Given the description of an element on the screen output the (x, y) to click on. 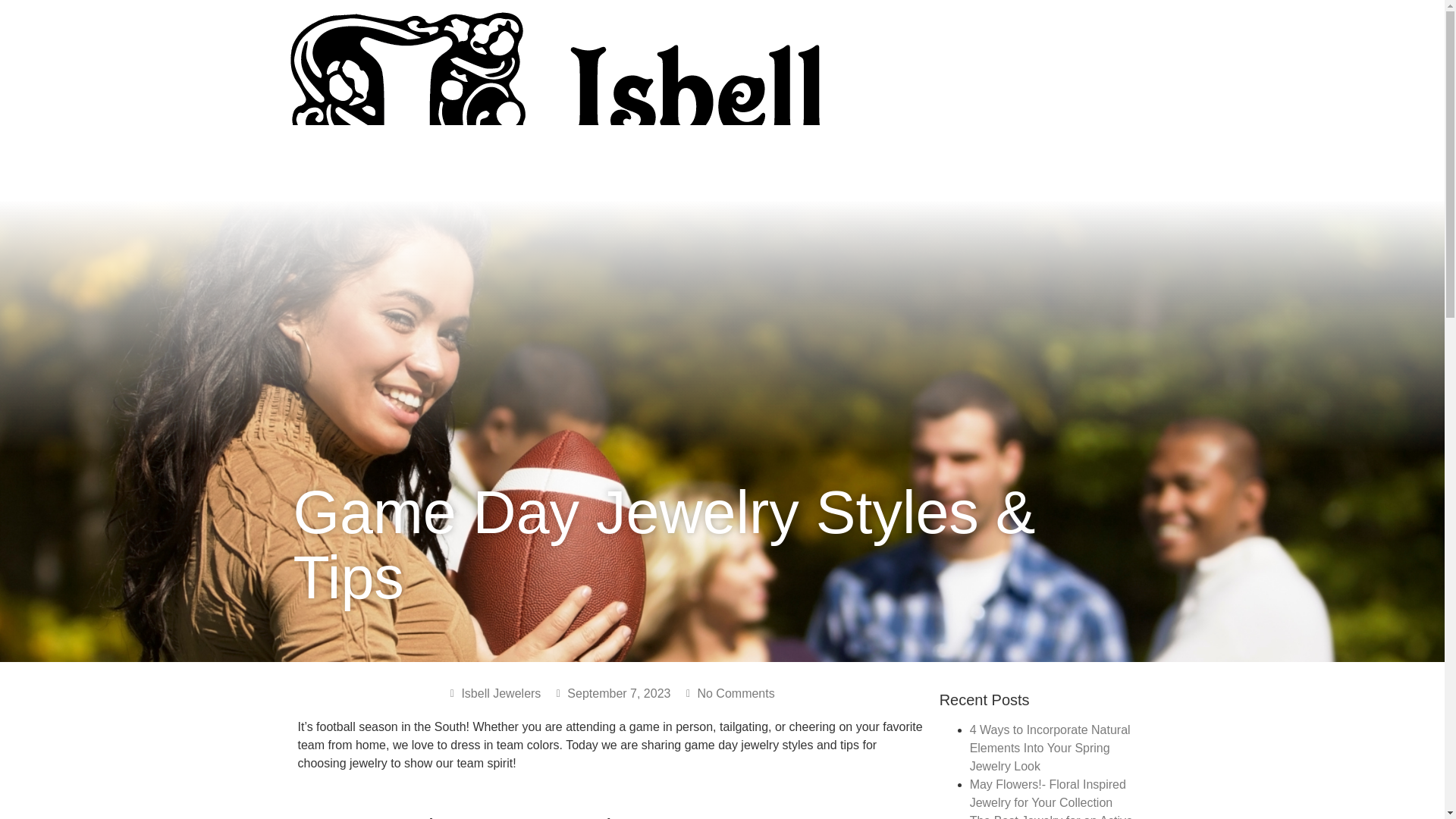
September 7, 2023 (611, 693)
May Flowers!- Floral Inspired Jewelry for Your Collection (1047, 793)
The Best Jewelry for an Active Lifestyle (1050, 816)
Isbell Jewelers (493, 693)
No Comments (728, 693)
